Given the description of an element on the screen output the (x, y) to click on. 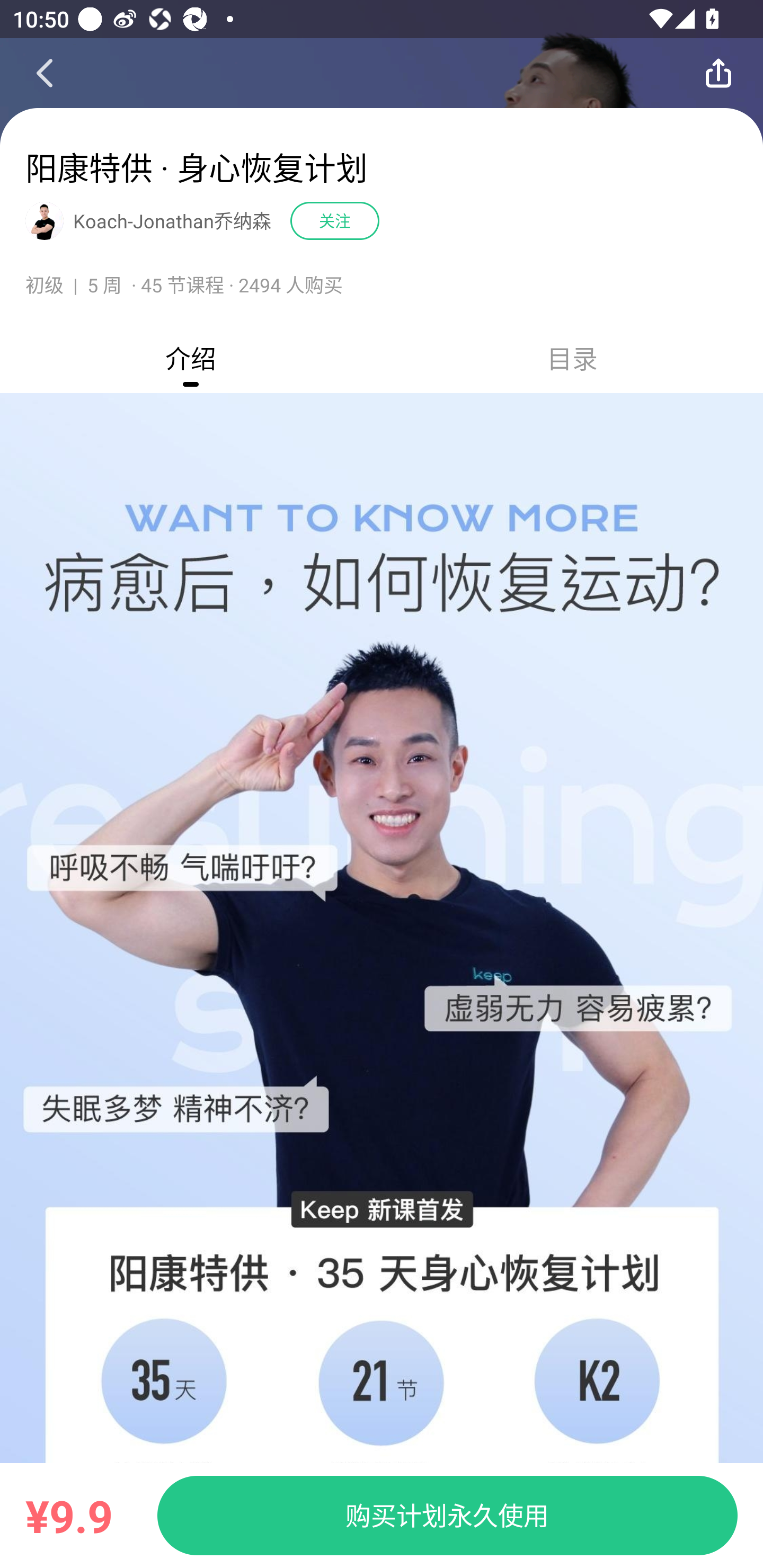
关注 (334, 220)
Koach-Jonathan乔纳森 (172, 220)
介绍 (190, 358)
目录 (572, 358)
购买计划永久使用 (447, 1515)
